Given the description of an element on the screen output the (x, y) to click on. 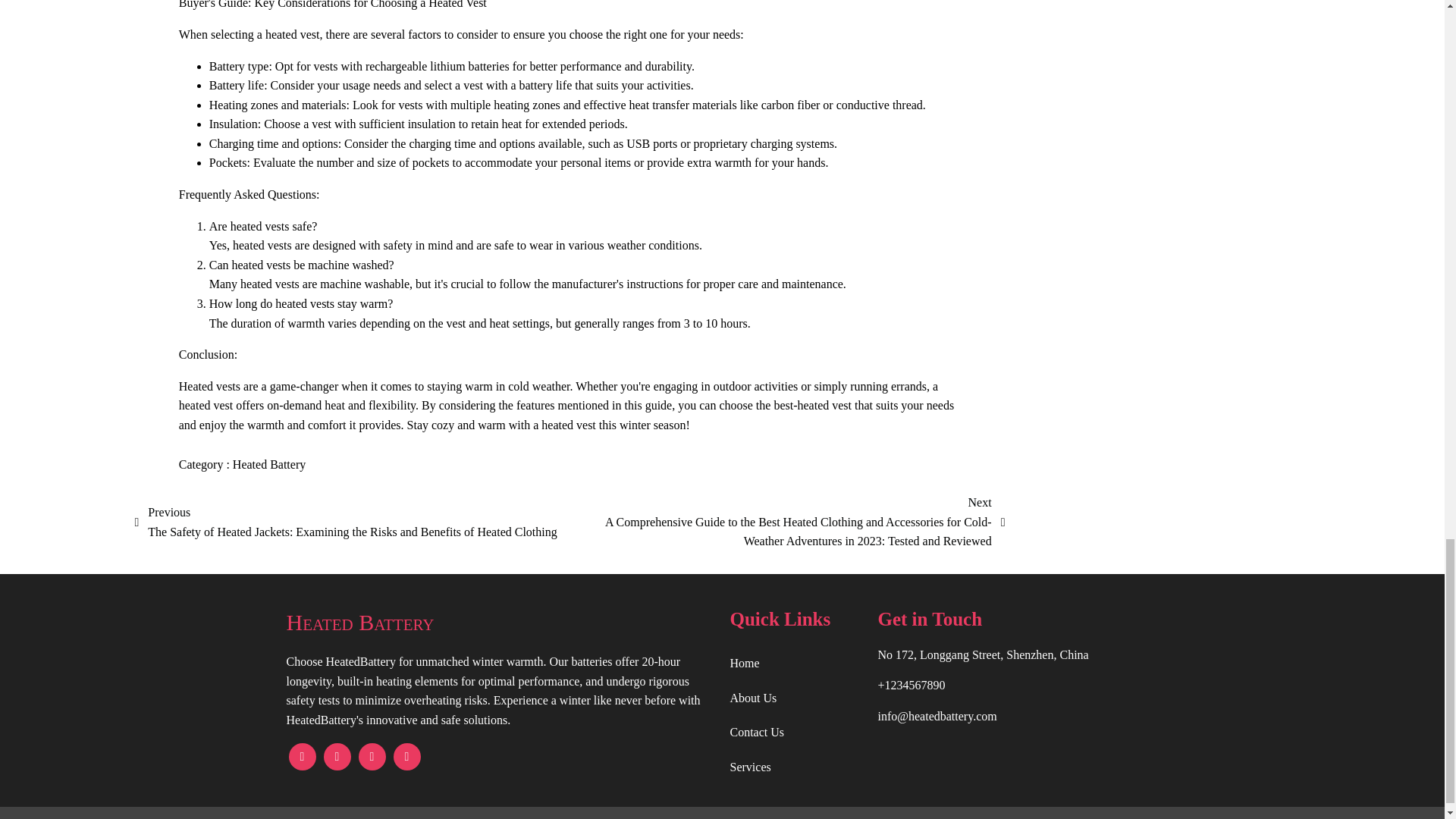
Heated Battery (268, 463)
Heated Battery (500, 622)
